Given the description of an element on the screen output the (x, y) to click on. 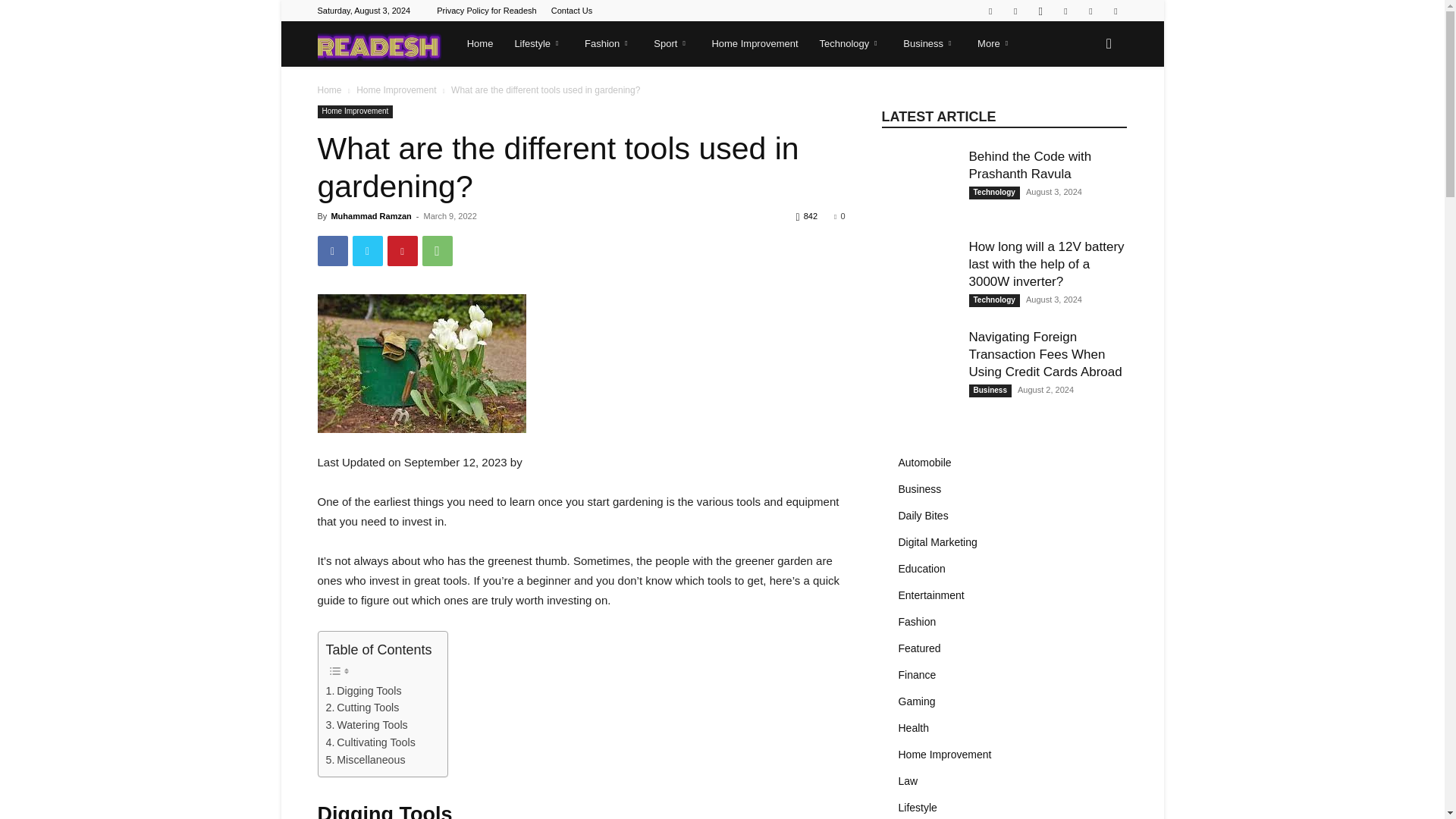
Facebook (1015, 10)
Contact Us (571, 10)
Vimeo (1090, 10)
Instagram (1040, 10)
Privacy Policy for Readesh (485, 10)
Twitter (1065, 10)
VKontakte (1114, 10)
Readish Logo (379, 44)
Behance (989, 10)
